Given the description of an element on the screen output the (x, y) to click on. 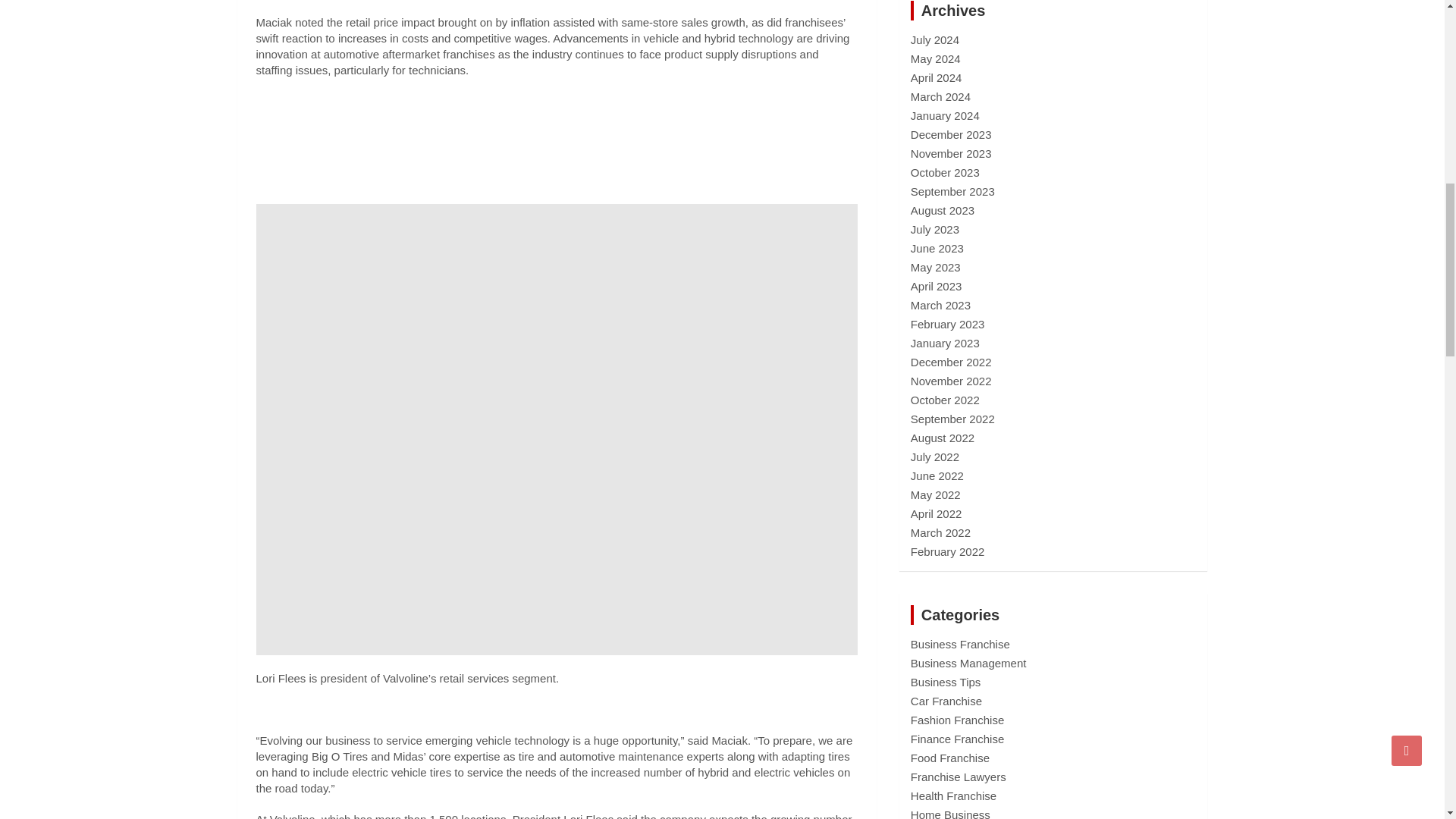
May 2024 (935, 58)
April 2024 (936, 77)
March 2024 (941, 96)
July 2024 (935, 39)
